Given the description of an element on the screen output the (x, y) to click on. 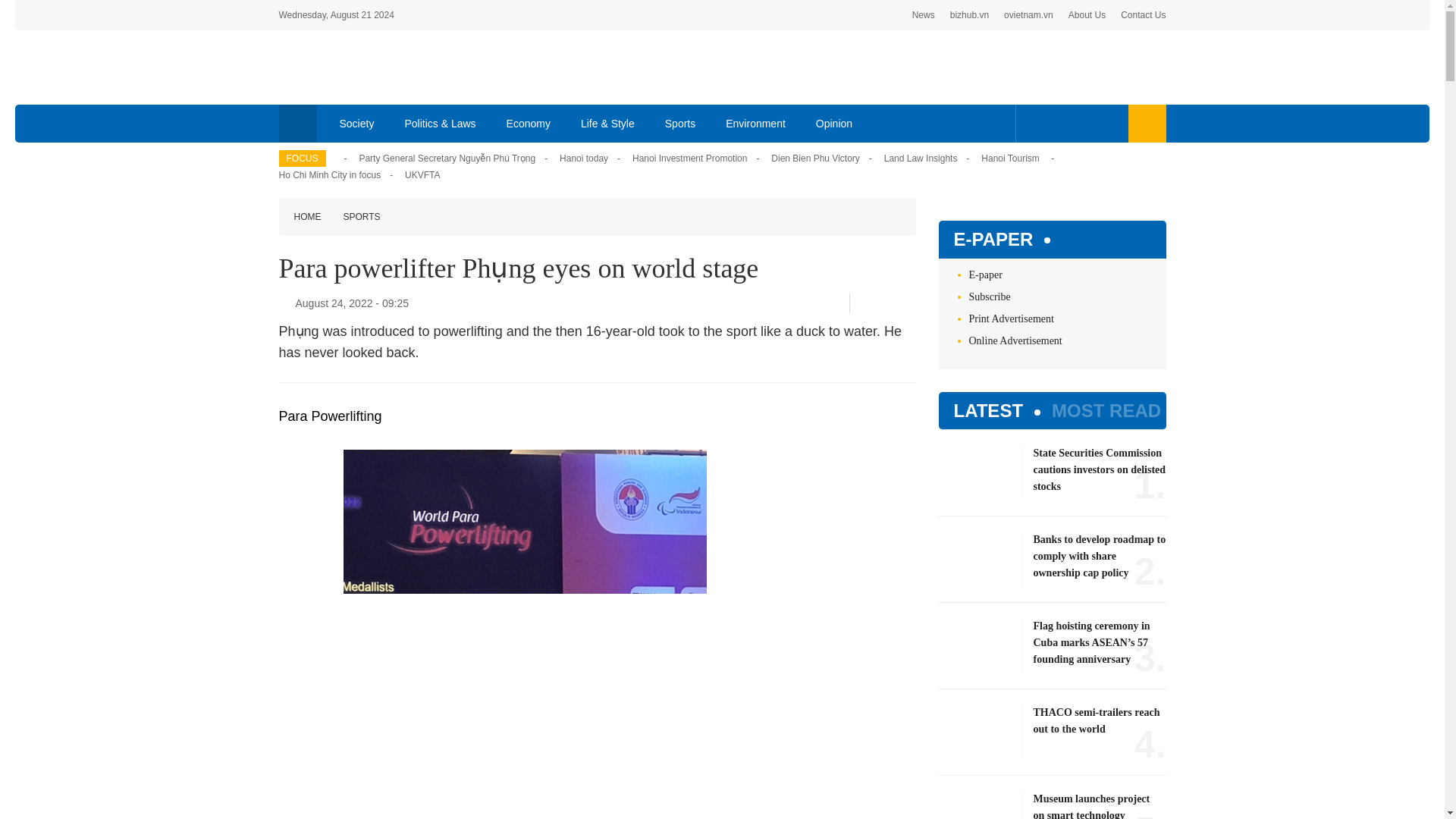
Environment (755, 123)
bizhub.vn (969, 15)
Opinion (833, 123)
News (923, 15)
Sports (679, 123)
Email (909, 303)
About Us (1086, 15)
ovietnam.vn (1028, 15)
Twitter (1056, 122)
Twitter (885, 303)
